Given the description of an element on the screen output the (x, y) to click on. 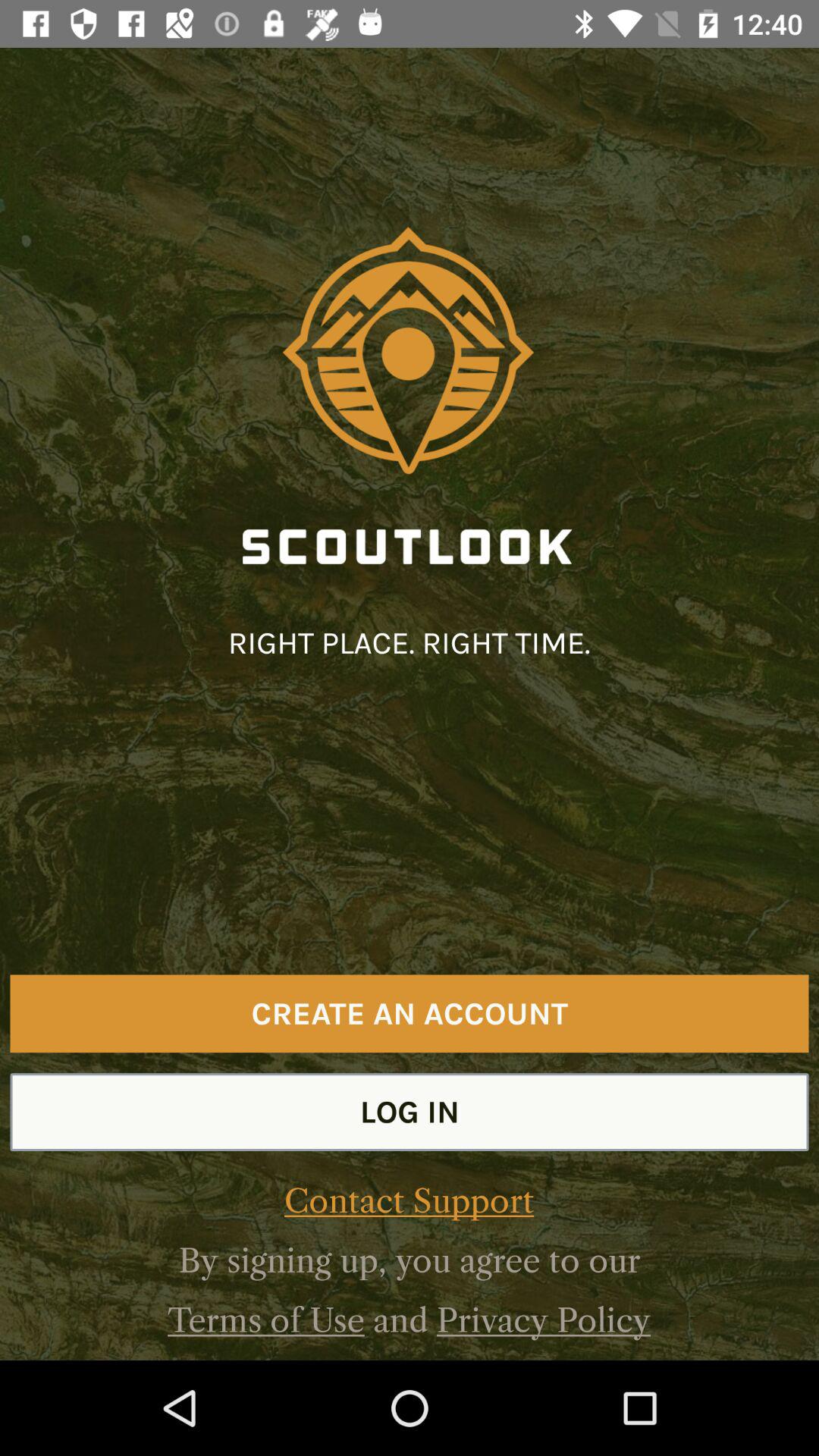
jump until create an account item (409, 1013)
